Given the description of an element on the screen output the (x, y) to click on. 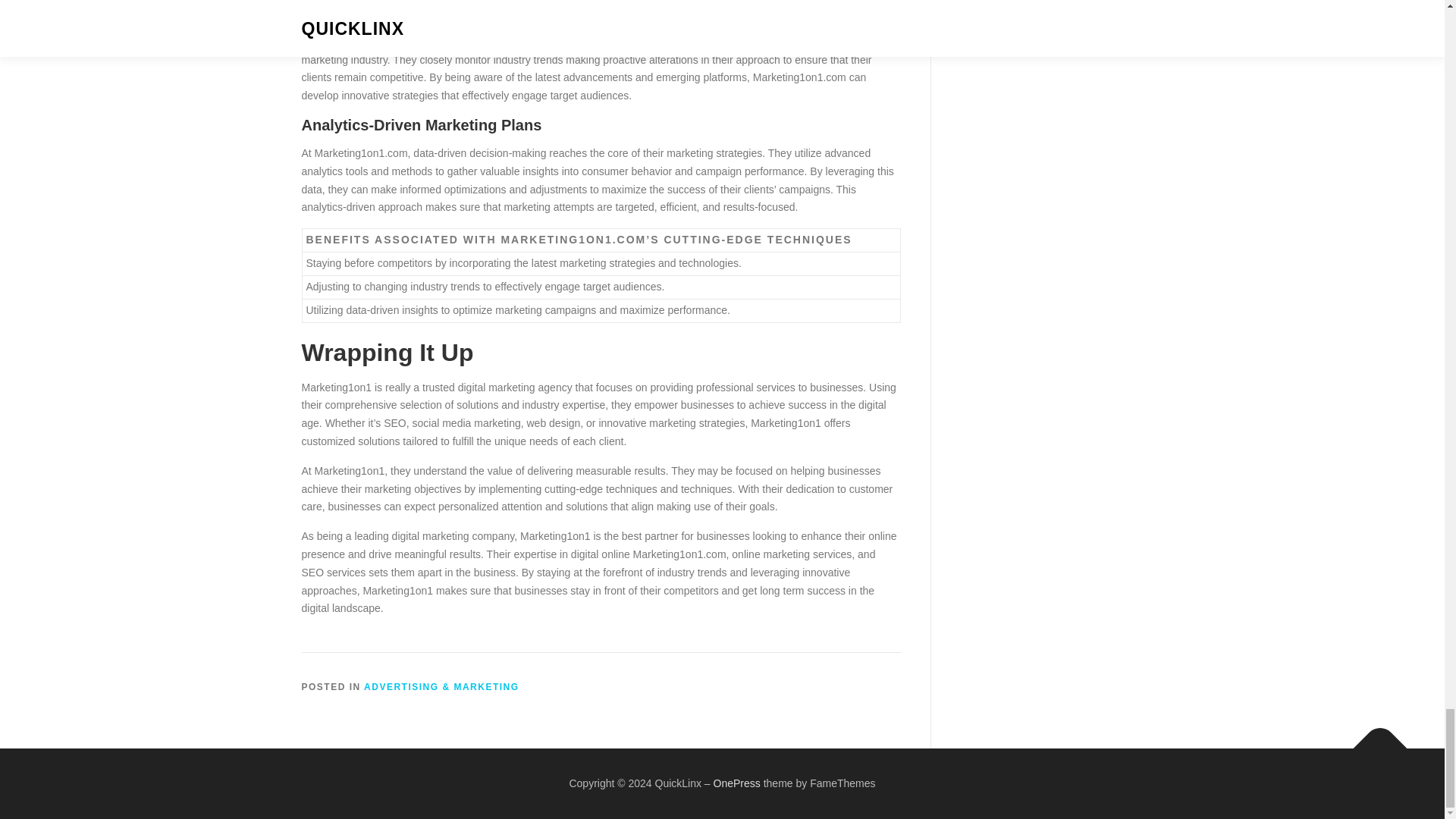
Back To Top (1372, 740)
